Given the description of an element on the screen output the (x, y) to click on. 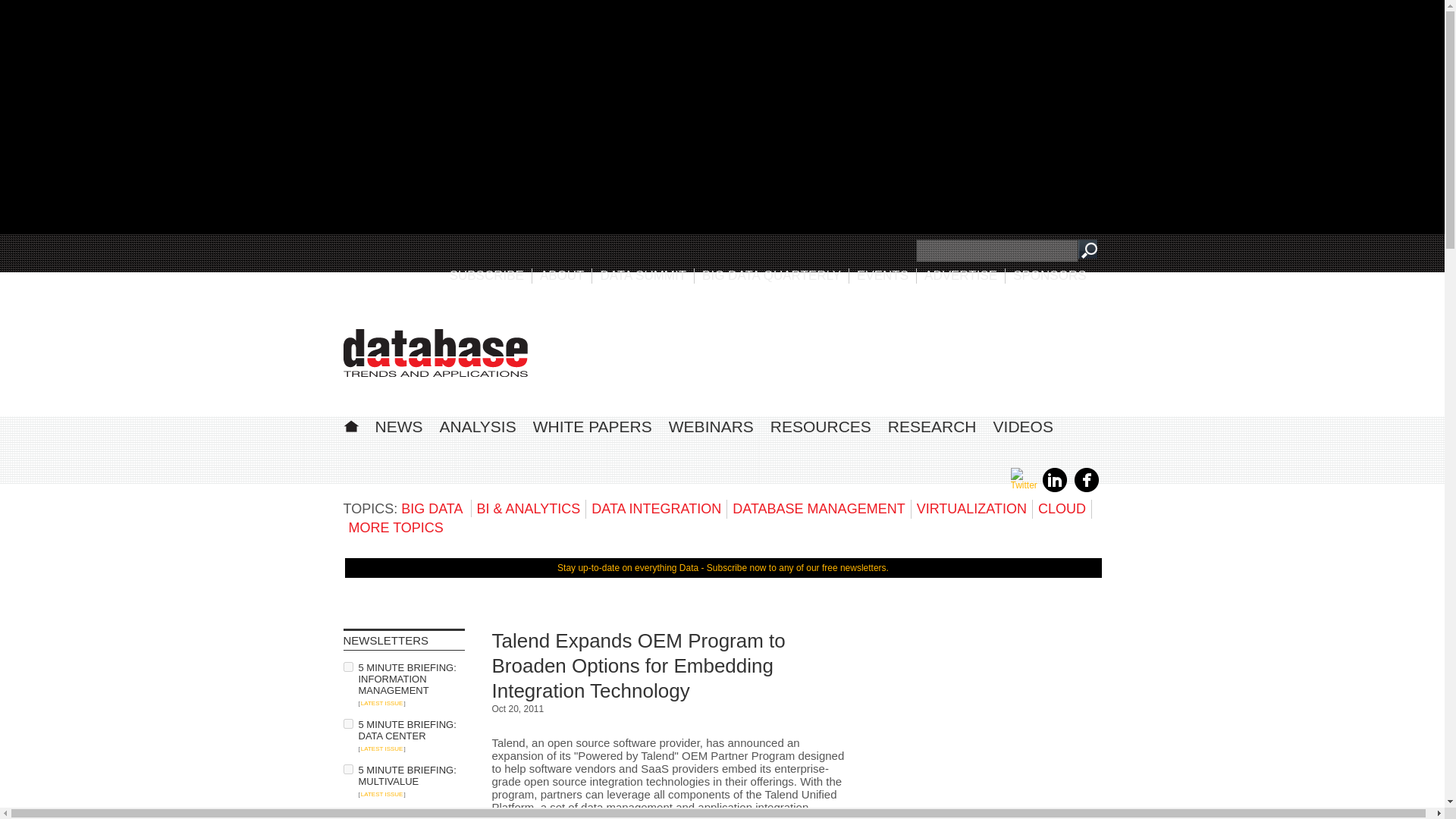
DBTA on Facebook (1085, 489)
3rd party ad content (986, 723)
WHITE PAPERS (592, 425)
on (347, 666)
on (347, 814)
on (347, 723)
DATA SUMMIT (642, 275)
ADVERTISE (960, 275)
on (347, 768)
ABOUT (562, 275)
DBTA on LinkedIn (1053, 489)
WEBINARS (711, 425)
NEWS (398, 425)
EVENTS (882, 275)
